Given the description of an element on the screen output the (x, y) to click on. 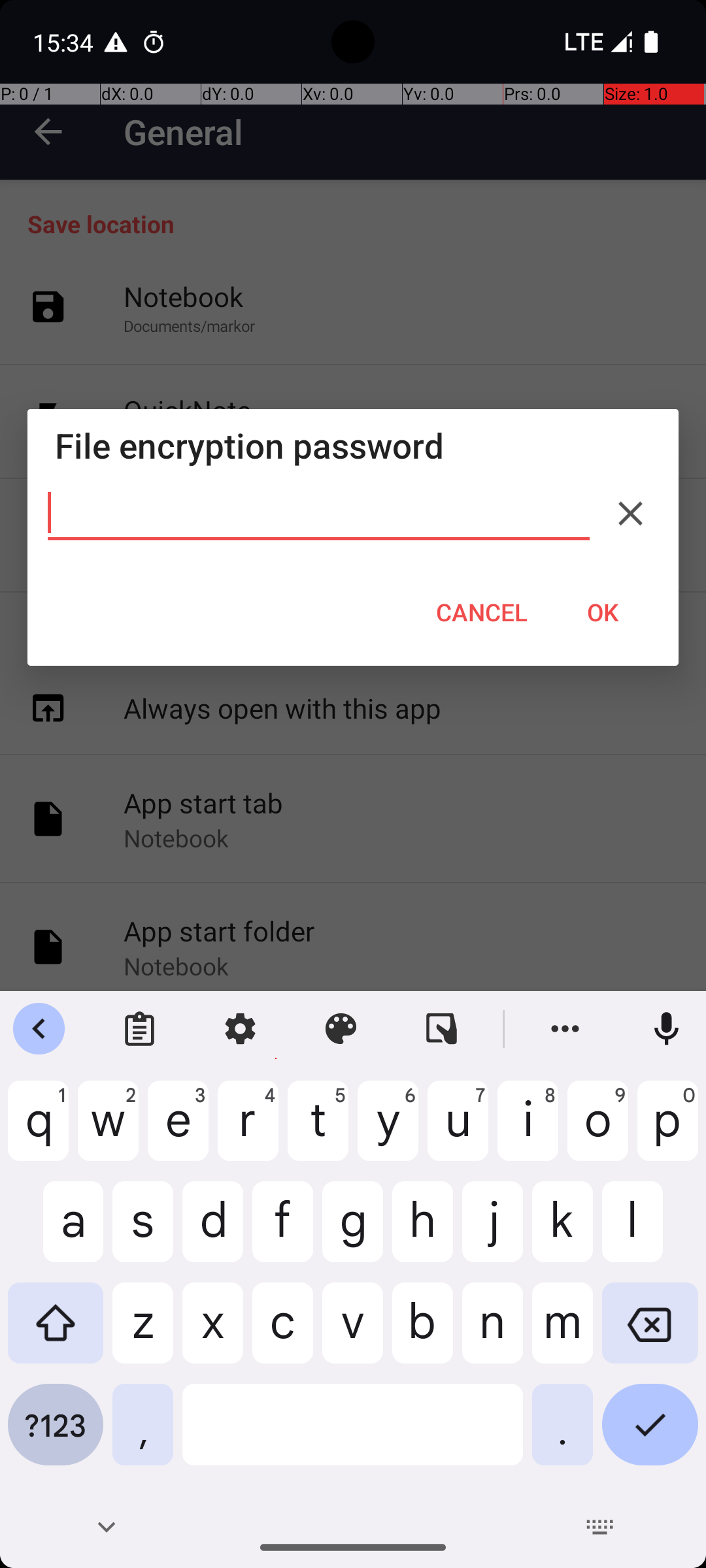
File encryption password Element type: android.widget.TextView (352, 445)
Theme settings Element type: android.widget.FrameLayout (340, 1028)
One handed mode Element type: android.widget.FrameLayout (441, 1028)
